Given the description of an element on the screen output the (x, y) to click on. 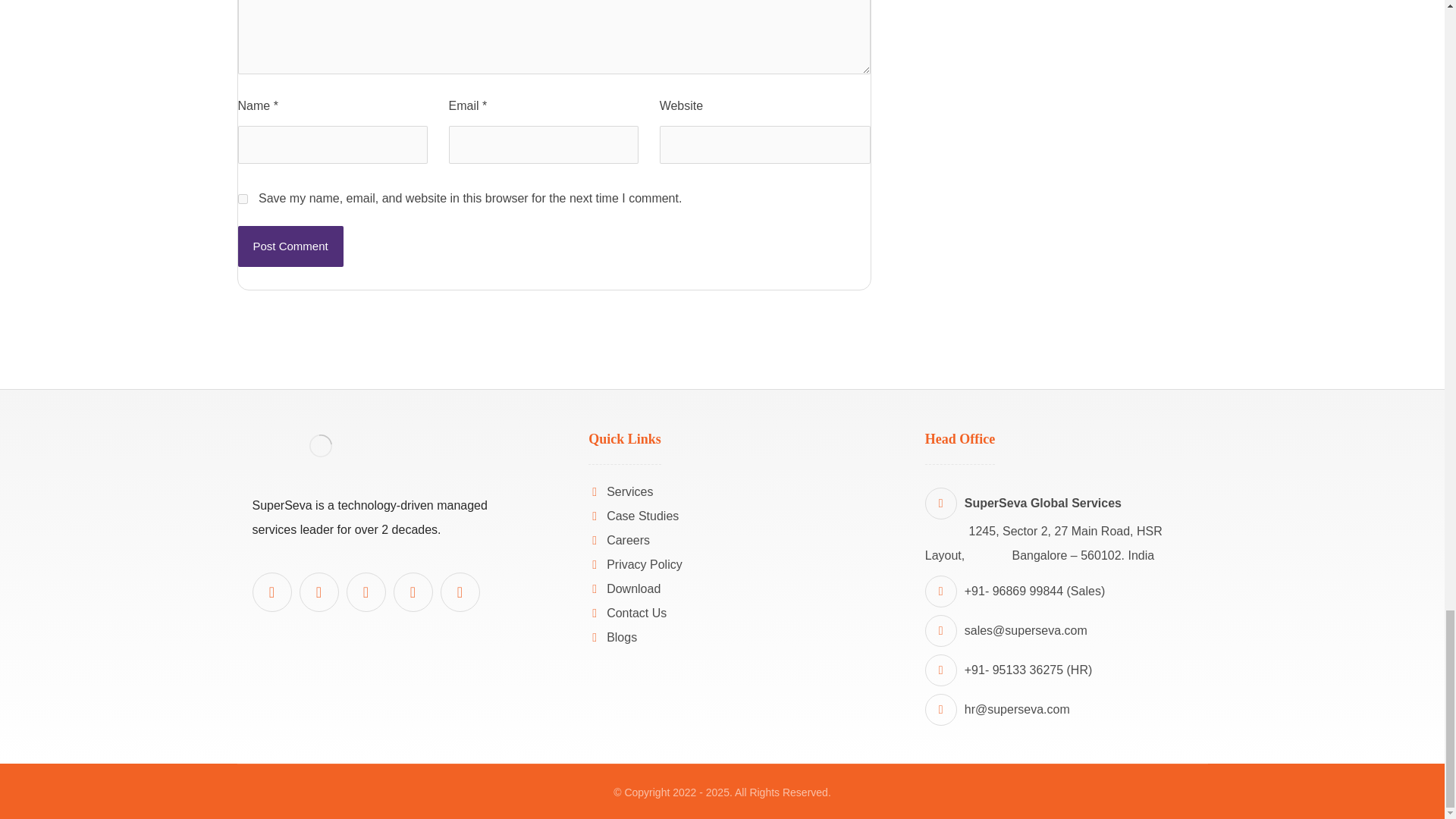
Facebook (365, 591)
youtube (317, 591)
Instagram (459, 591)
yes (242, 198)
Linkedin (271, 591)
Post Comment (290, 246)
Twitter (412, 591)
